Given the description of an element on the screen output the (x, y) to click on. 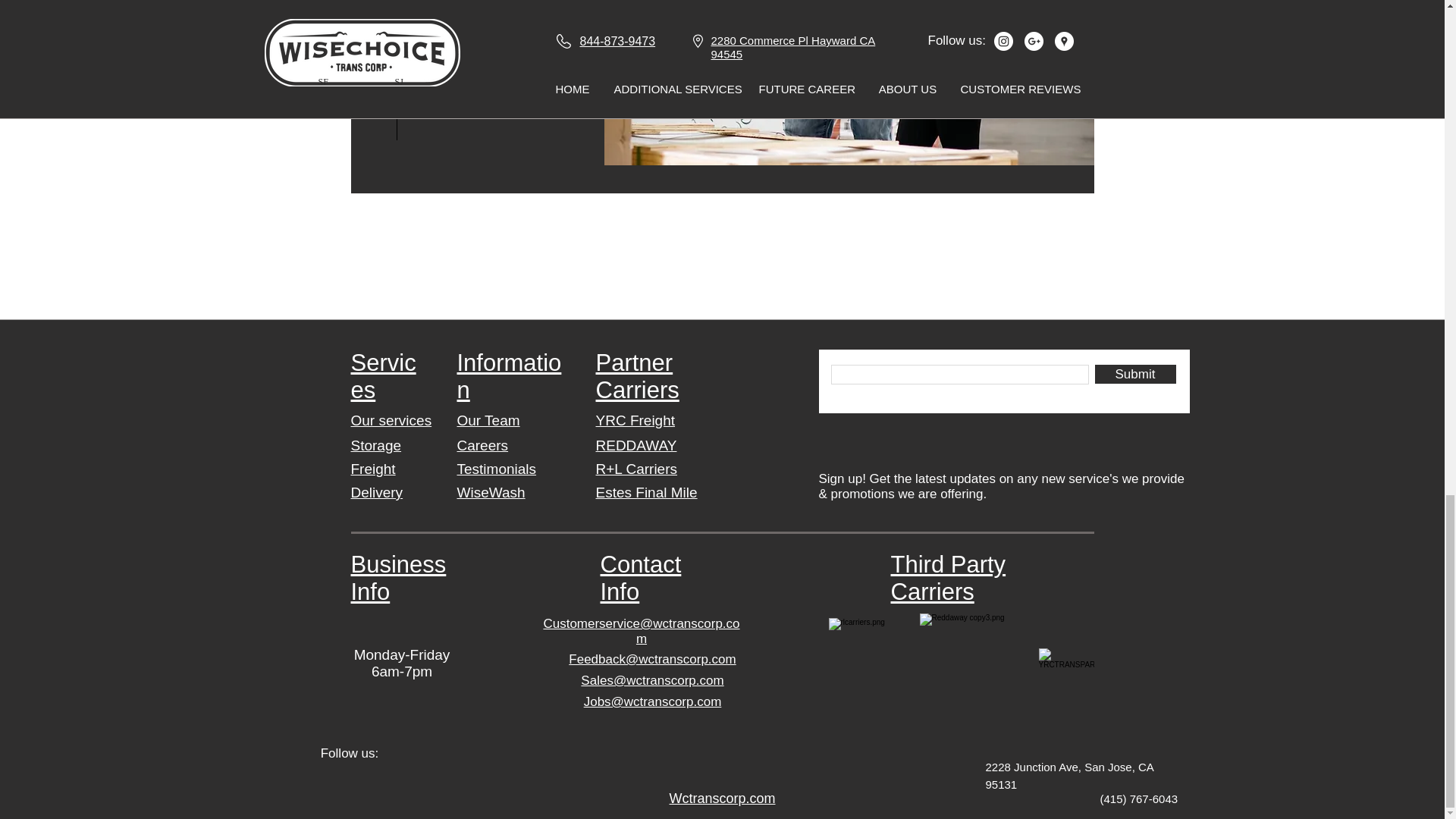
Delivery (376, 492)
WiseWash (490, 492)
Our Team (488, 420)
Freight (372, 468)
Submit (1135, 374)
Testimonials (496, 468)
Storage (375, 445)
2228 Junction Ave, San Jose, CA 95131 (1069, 775)
Our services (390, 420)
REDDAWAY (636, 445)
Estes Final Mile (646, 492)
YRC Freight (635, 420)
Careers (482, 445)
